Given the description of an element on the screen output the (x, y) to click on. 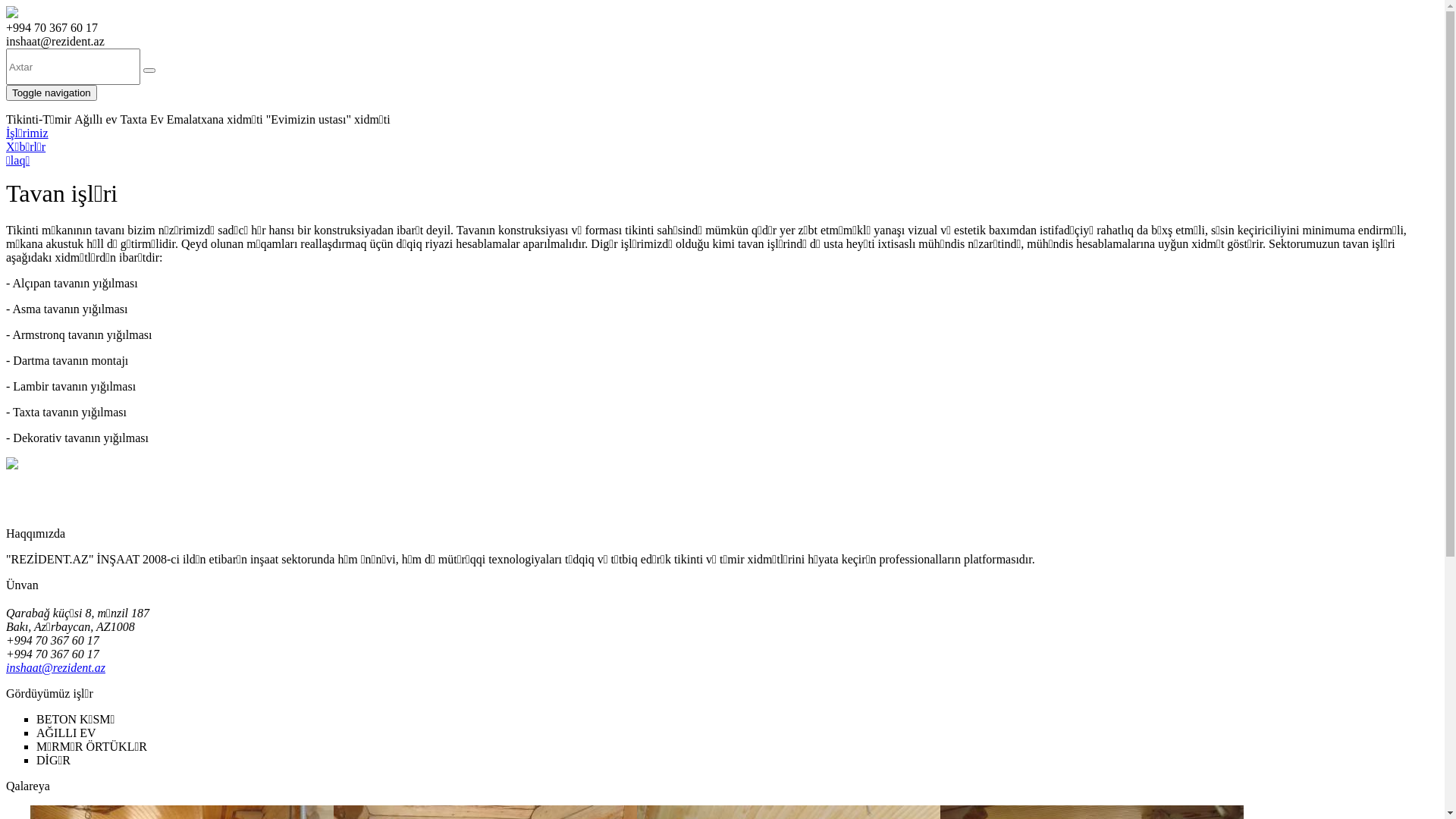
Taxta Ev Element type: text (141, 118)
Toggle navigation Element type: text (51, 92)
inshaat@rezident.az Element type: text (55, 667)
